Given the description of an element on the screen output the (x, y) to click on. 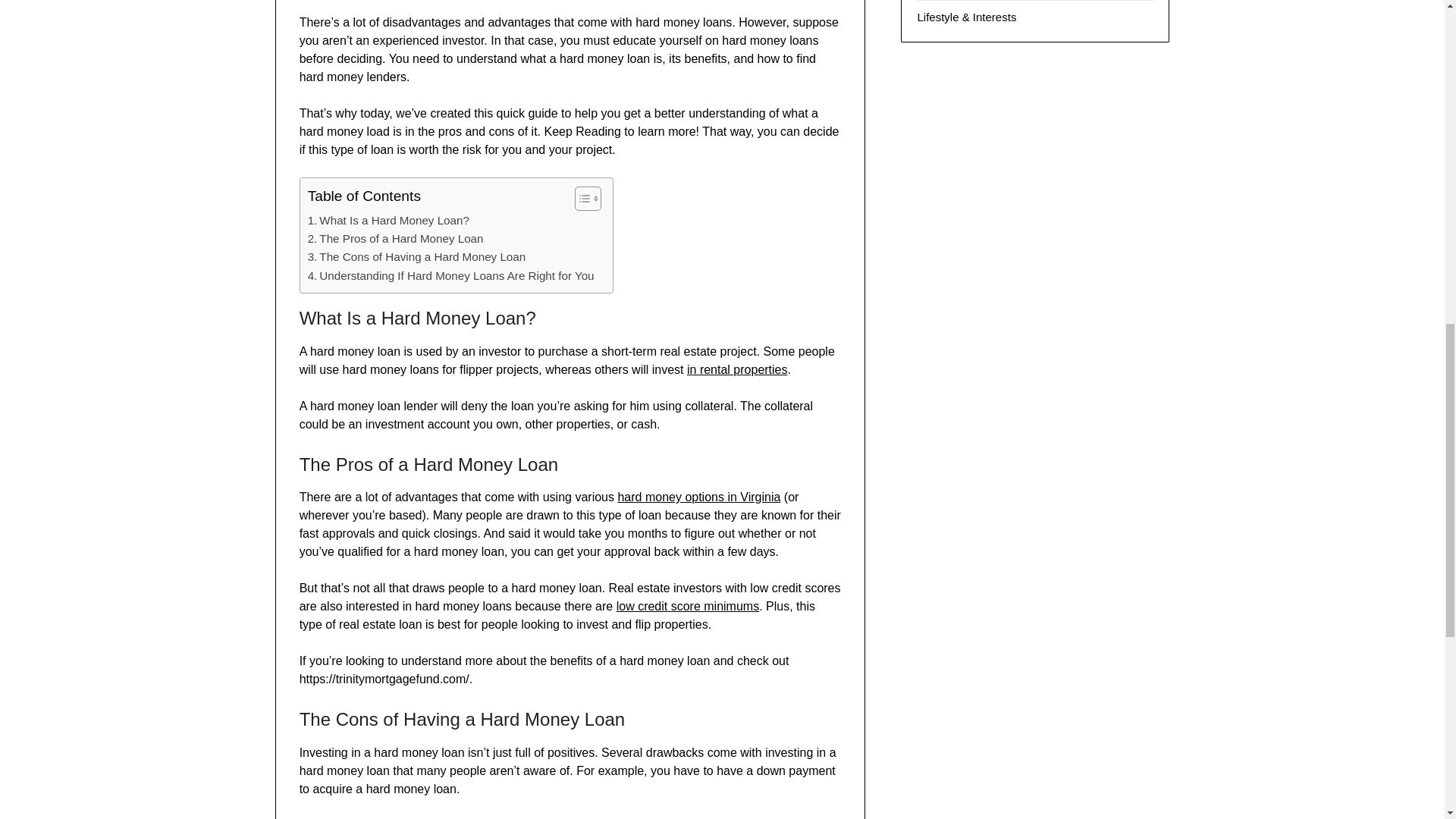
The Pros of a Hard Money Loan (395, 239)
Understanding If Hard Money Loans Are Right for You  (451, 275)
low credit score minimums (686, 605)
hard money options in Virginia (698, 496)
The Pros of a Hard Money Loan (395, 239)
in rental properties (737, 368)
The Cons of Having a Hard Money Loan (416, 257)
What Is a Hard Money Loan? (387, 220)
What Is a Hard Money Loan? (387, 220)
The Cons of Having a Hard Money Loan (416, 257)
